Given the description of an element on the screen output the (x, y) to click on. 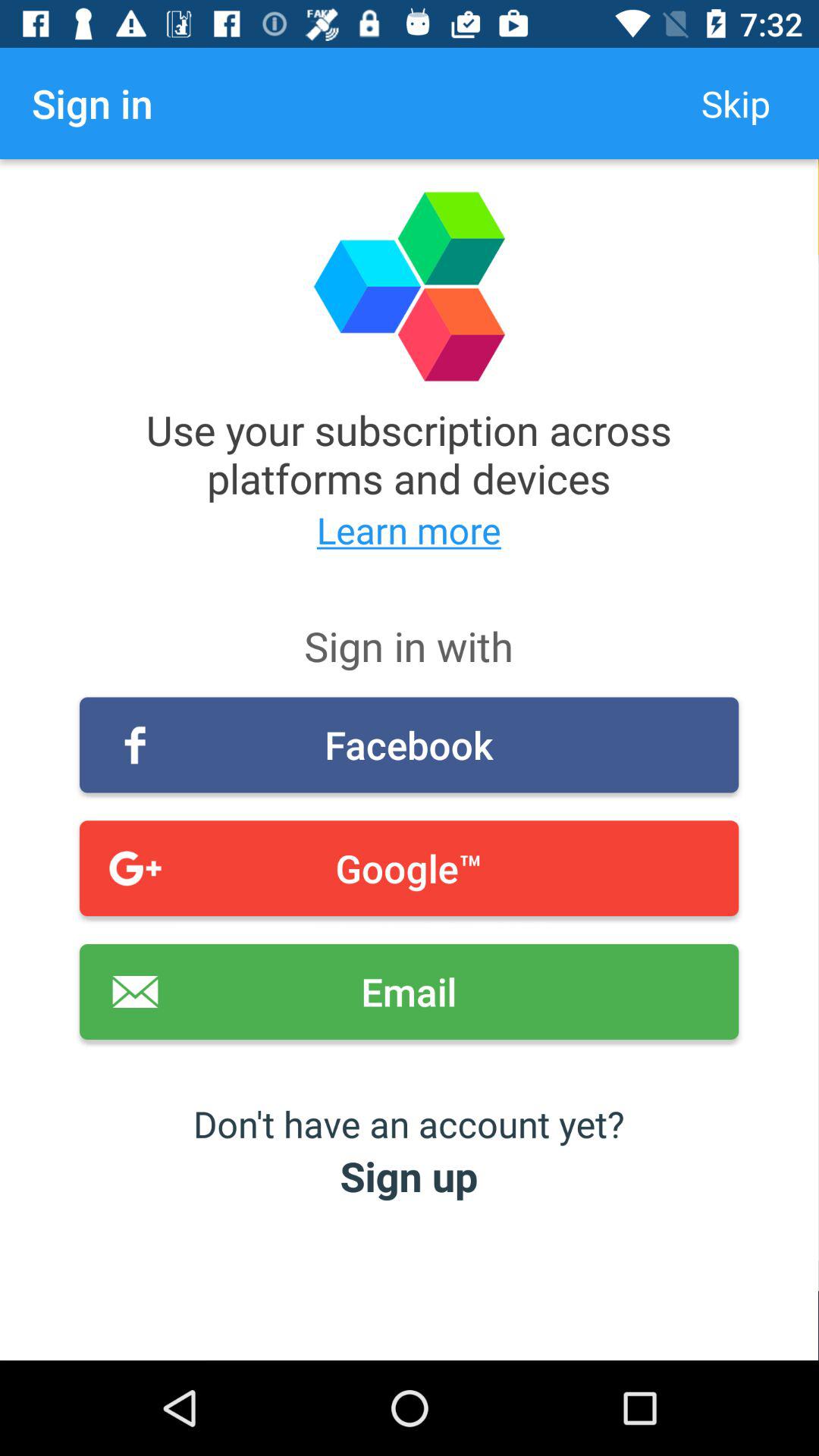
open icon below facebook (408, 868)
